Given the description of an element on the screen output the (x, y) to click on. 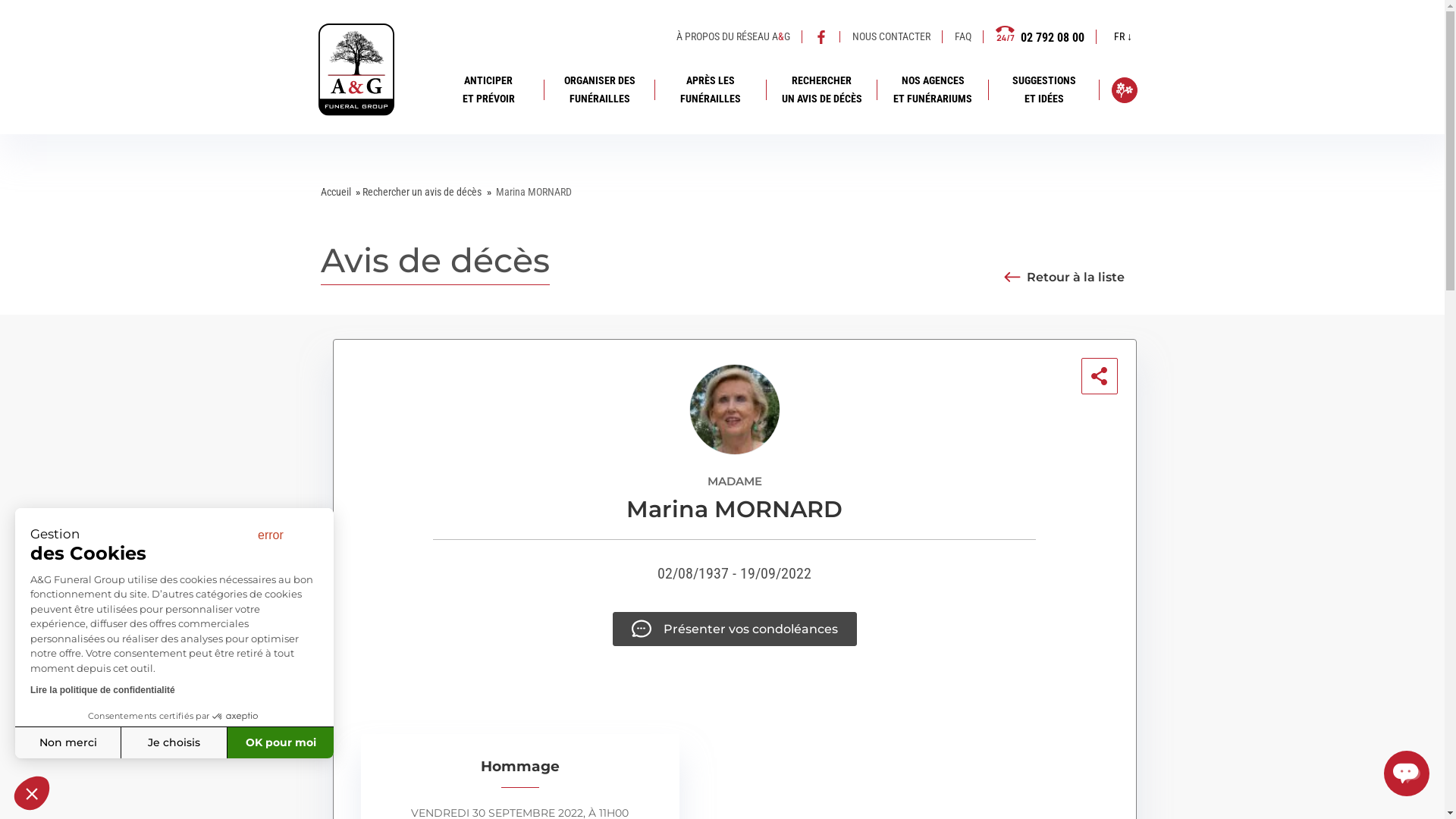
02 792 08 00 Element type: text (1039, 36)
NOUS CONTACTER Element type: text (891, 36)
Accueil Element type: text (335, 191)
Je choisis Element type: text (174, 742)
OK pour moi Element type: text (280, 742)
Fermer le widget sans consentement Element type: hover (31, 793)
FAQ Element type: text (962, 36)
Non merci Element type: text (68, 742)
Envoyer des fleurs Element type: hover (1124, 89)
